Given the description of an element on the screen output the (x, y) to click on. 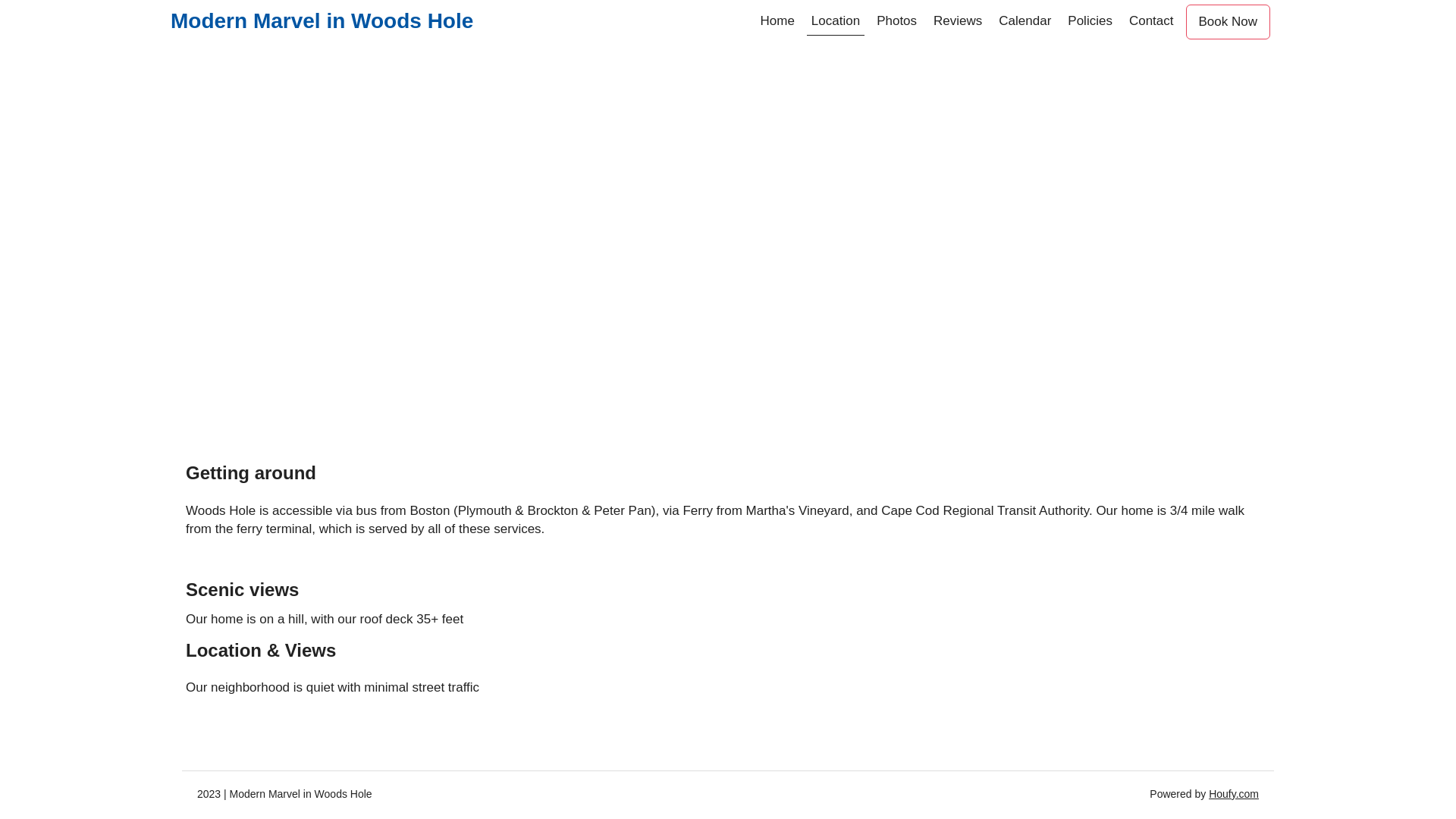
Modern Marvel in Woods Hole Element type: text (321, 21)
Home Element type: text (776, 21)
Houfy.com Element type: text (1233, 793)
Reviews Element type: text (957, 21)
Photos Element type: text (896, 21)
Location Element type: text (835, 21)
Calendar Element type: text (1024, 21)
Contact Element type: text (1151, 21)
Book Now Element type: text (1228, 21)
Policies Element type: text (1090, 21)
